Given the description of an element on the screen output the (x, y) to click on. 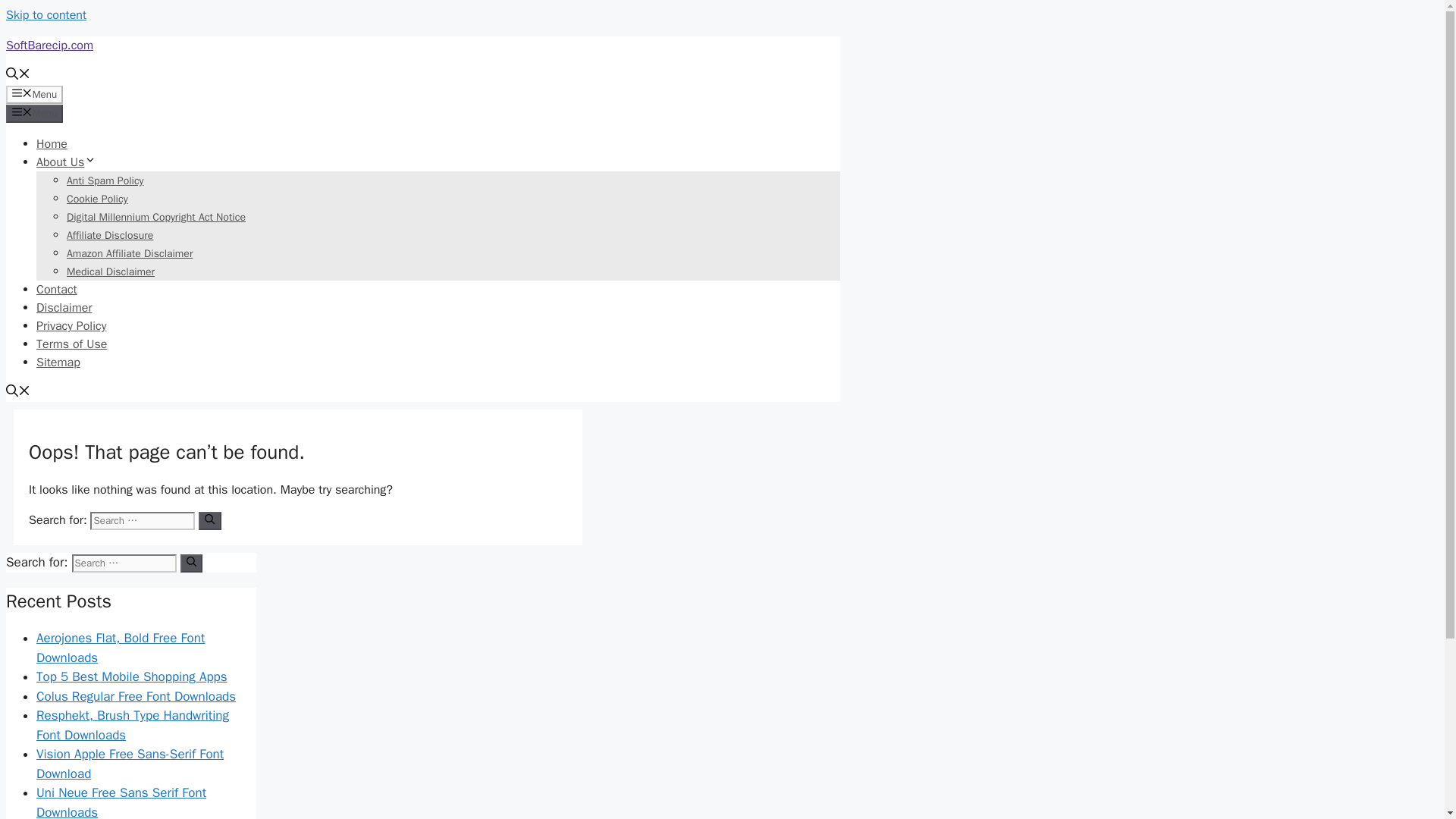
Vision Apple Free Sans-Serif Font Download (130, 764)
Aerojones Flat, Bold Free Font Downloads (120, 647)
Search for: (123, 563)
Search for: (142, 520)
Privacy Policy (71, 325)
Disclaimer (63, 307)
SoftBarecip.com (49, 45)
Cookie Policy (97, 198)
Digital Millennium Copyright Act Notice (156, 216)
Affiliate Disclosure (109, 235)
About Us (66, 161)
Uni Neue Free Sans Serif Font Downloads (121, 801)
Resphekt, Brush Type Handwriting Font Downloads (132, 724)
Terms of Use (71, 344)
Menu (33, 94)
